Given the description of an element on the screen output the (x, y) to click on. 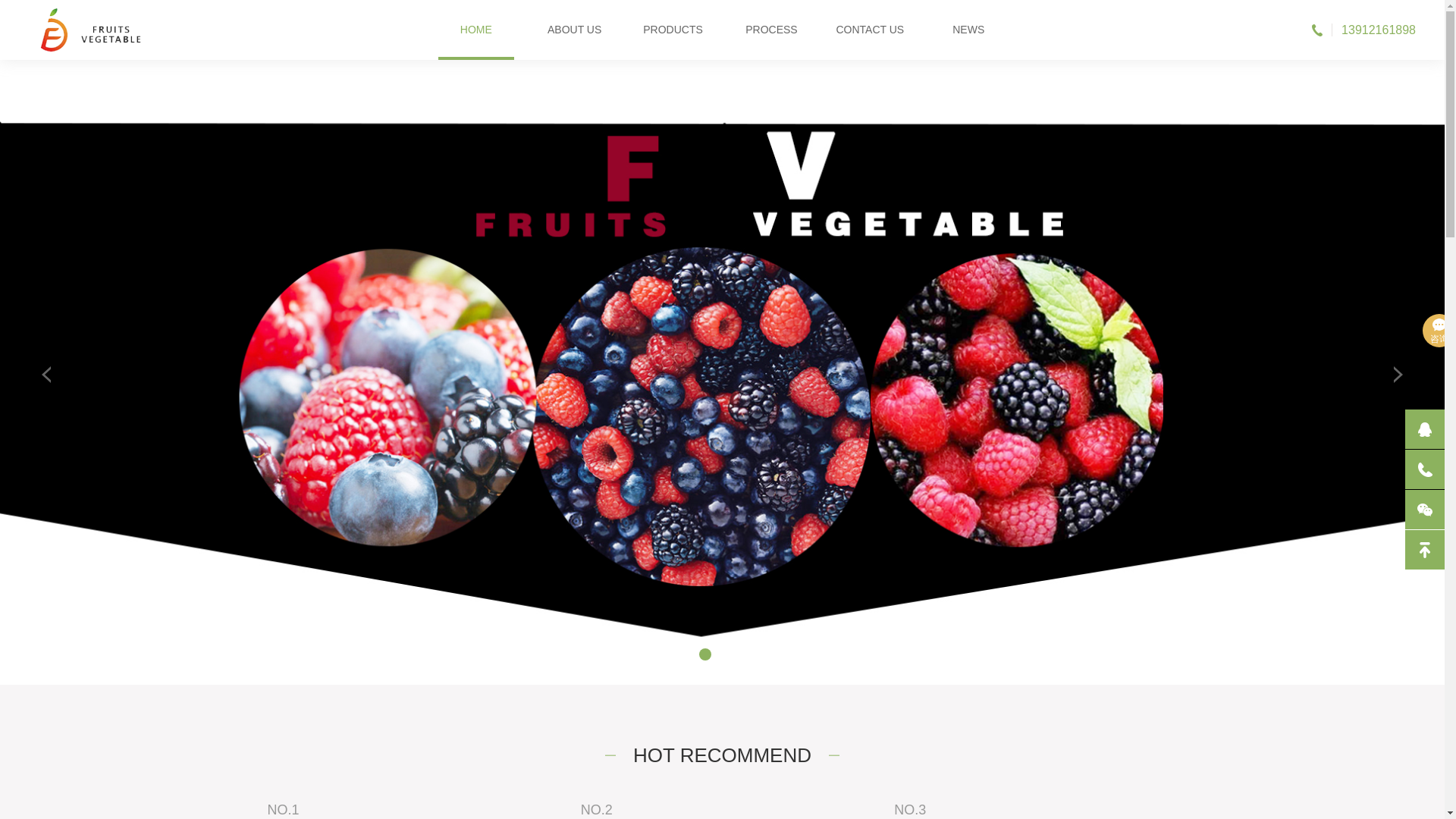
PROCESS (771, 29)
ABOUT US (574, 29)
HOME (475, 29)
PRODUCTS (672, 29)
CONTACT US (869, 29)
NEWS (968, 29)
